Given the description of an element on the screen output the (x, y) to click on. 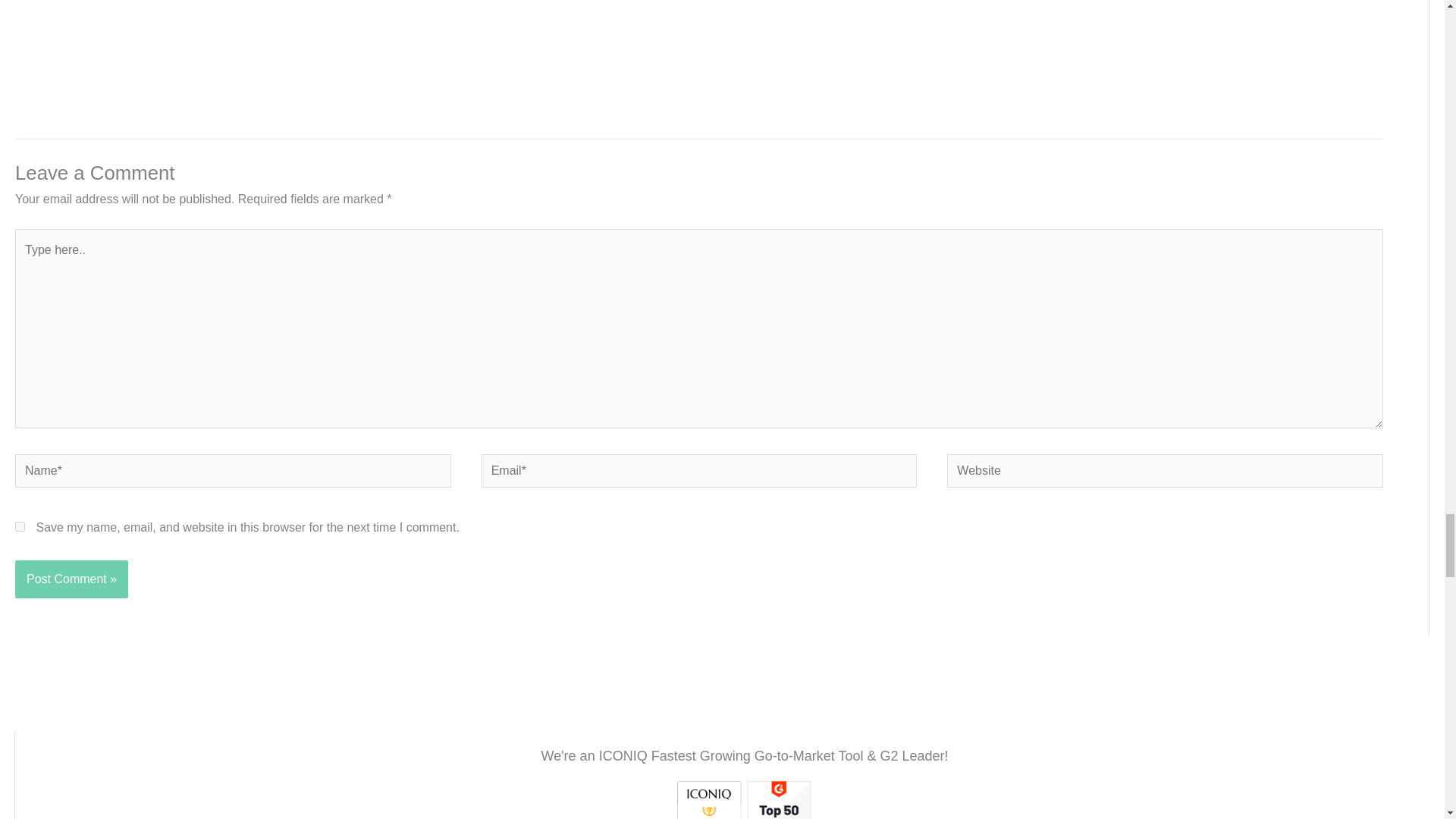
yes (19, 526)
